Given the description of an element on the screen output the (x, y) to click on. 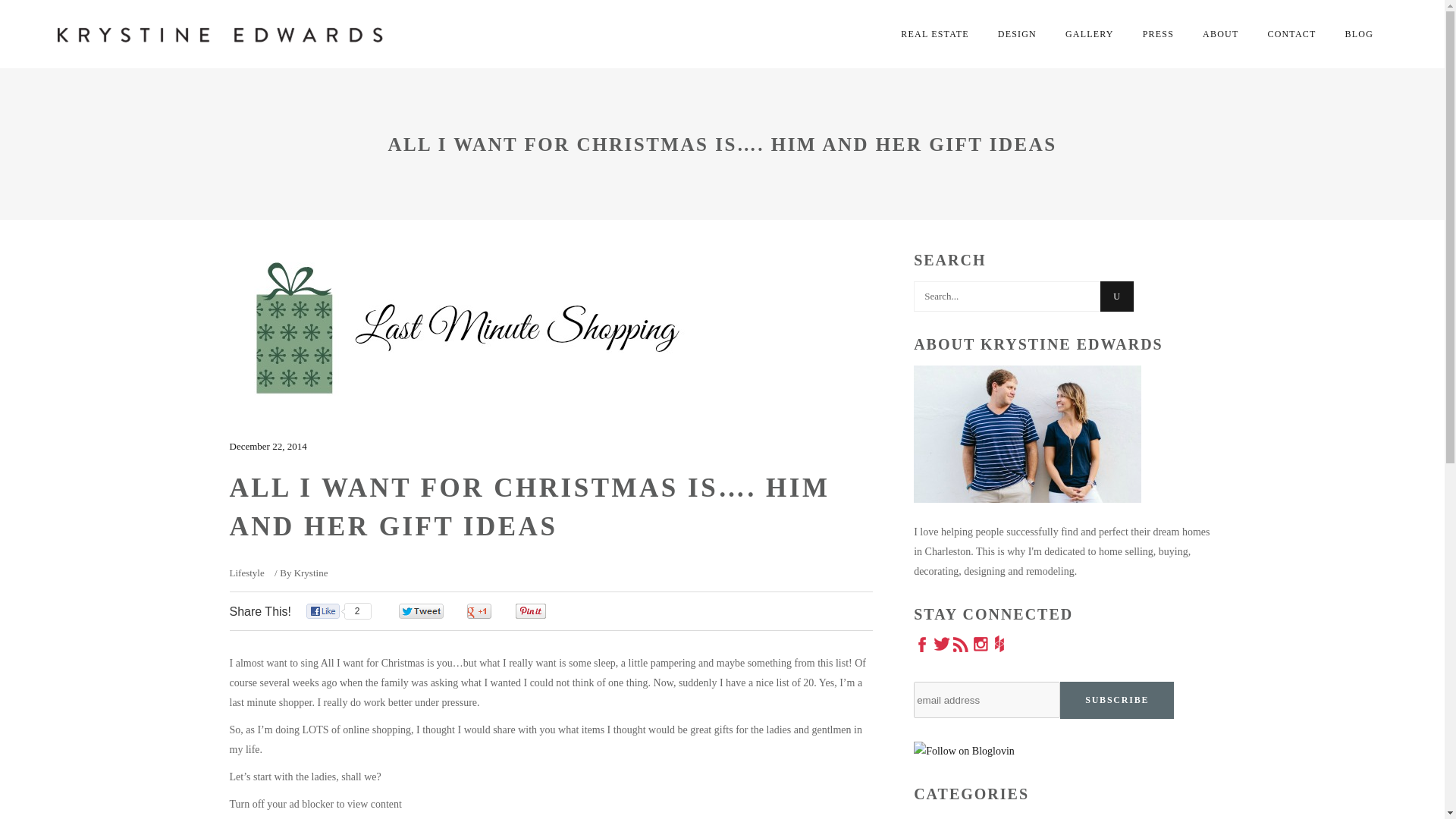
December 22, 2014 (266, 446)
ABOUT (1220, 33)
Subscribe (1116, 700)
Subscribe (1116, 700)
Be the first one to tweet this article! (437, 610)
Search for: (1007, 296)
DESIGN (1017, 33)
2 (339, 610)
REAL ESTATE (934, 33)
Krystine (311, 572)
